Given the description of an element on the screen output the (x, y) to click on. 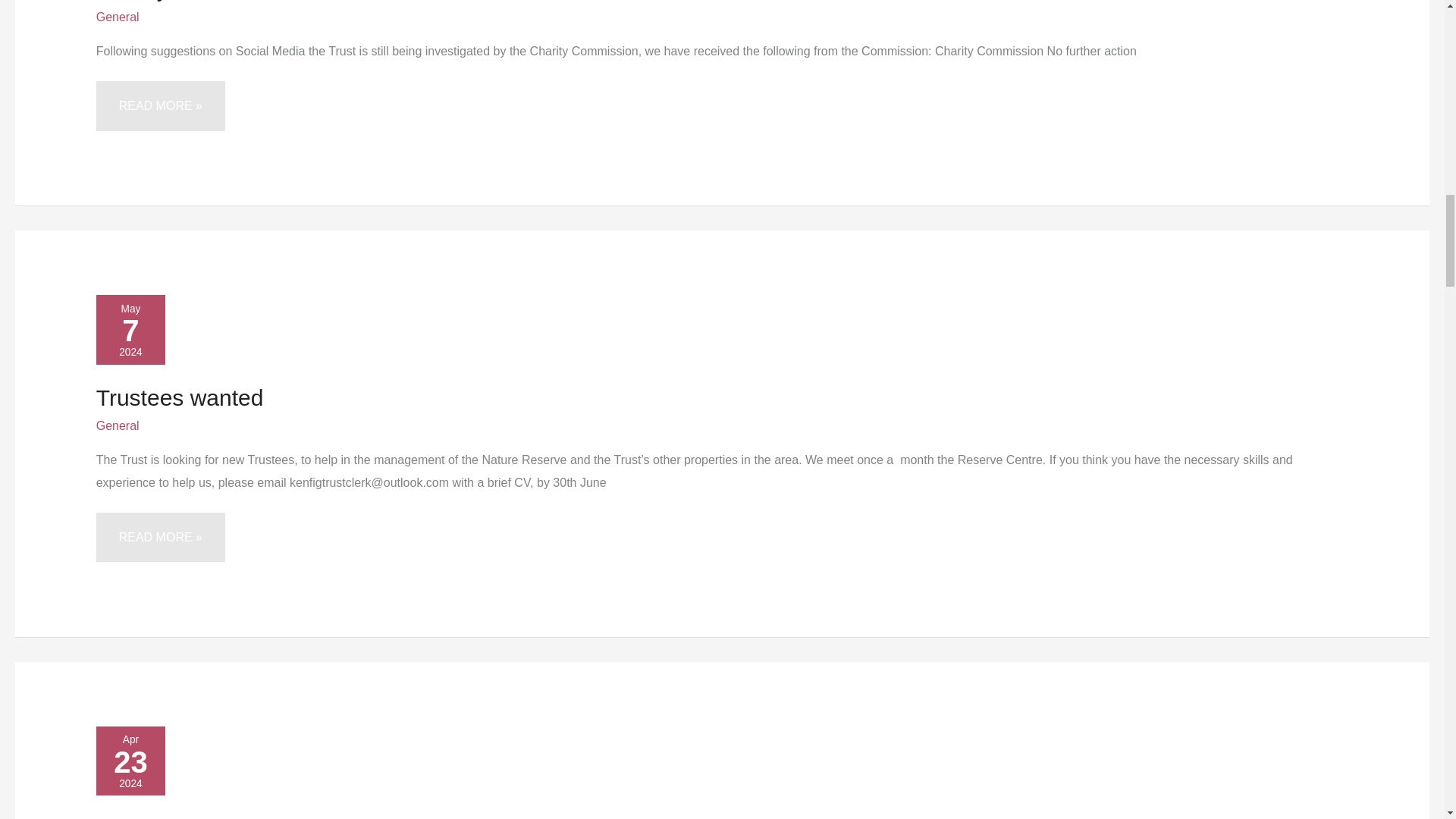
Trustees wanted (179, 397)
Trust Grants 2024 (187, 817)
General (117, 425)
General (117, 16)
